Given the description of an element on the screen output the (x, y) to click on. 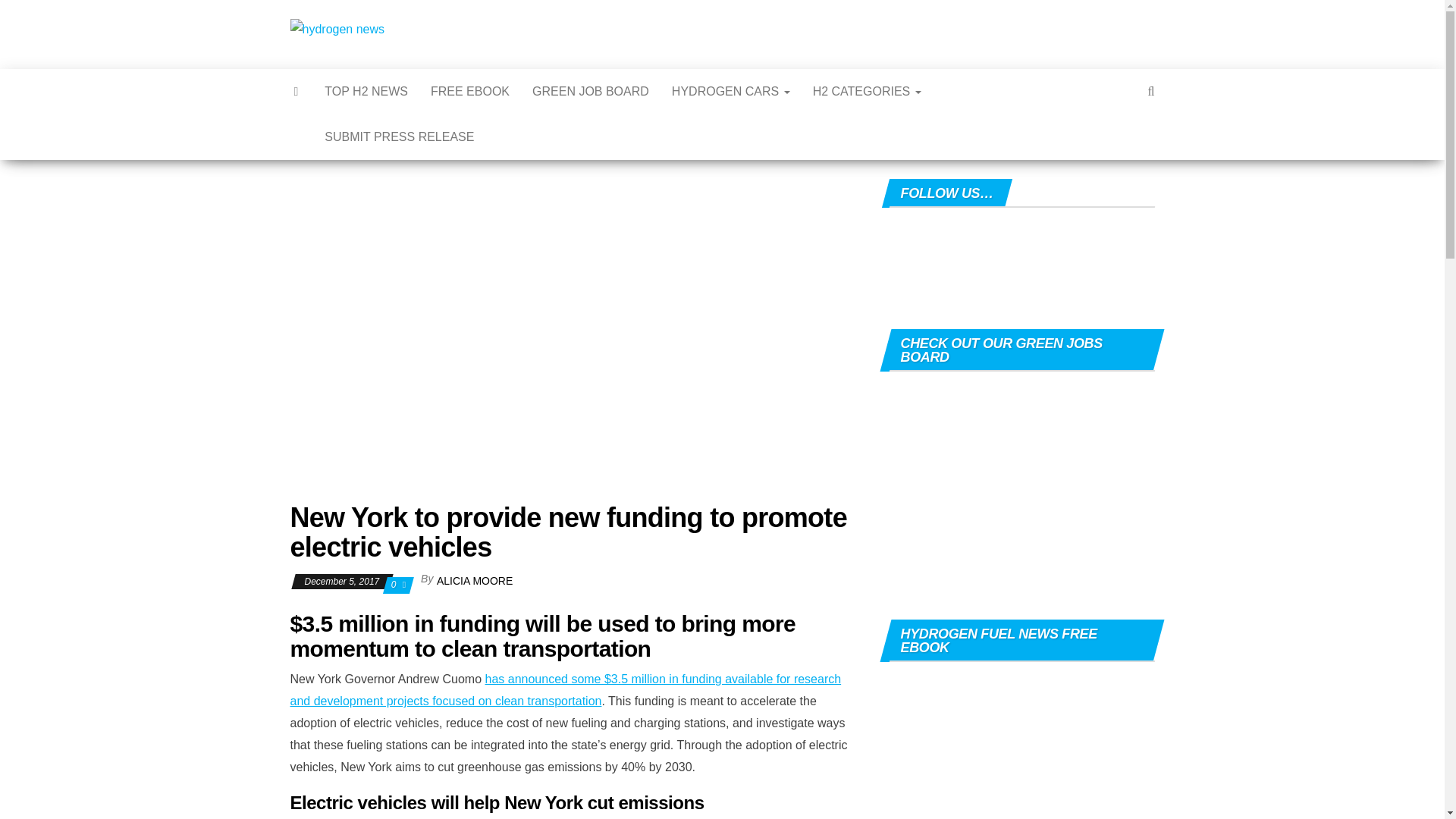
Hydrogen Cars (731, 91)
H2 CATEGORIES (867, 91)
Hydrogen Fuel News (463, 28)
Top H2 News (366, 91)
GREEN JOB BOARD (591, 91)
Free ebook (470, 91)
HYDROGEN CARS (731, 91)
Green Job Board (591, 91)
TOP H2 NEWS (366, 91)
FREE EBOOK (470, 91)
